Given the description of an element on the screen output the (x, y) to click on. 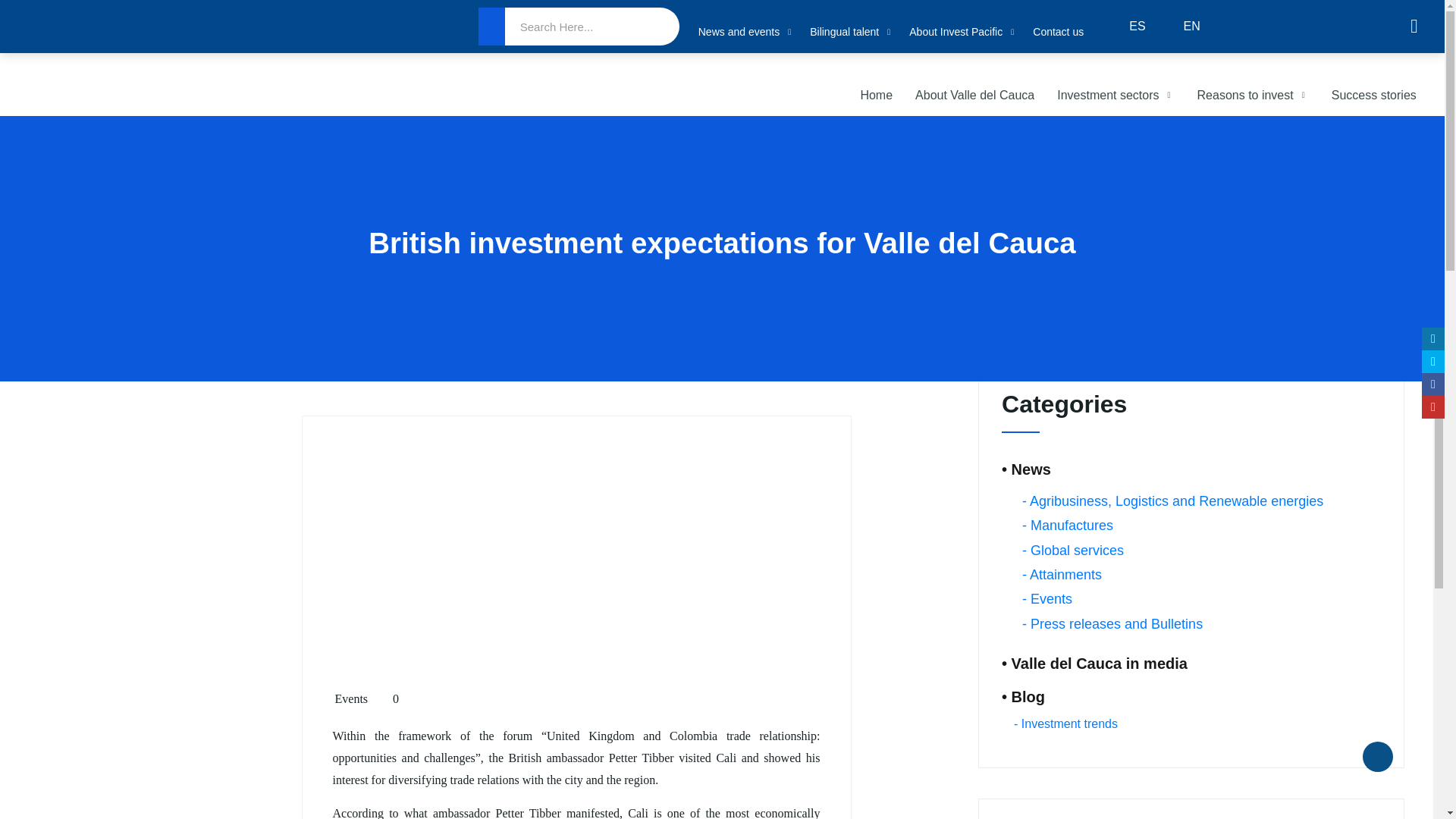
Contact us (1057, 32)
EN (1179, 26)
About Invest Pacific (963, 32)
About Valle del Cauca (974, 95)
ES (1125, 26)
Home (876, 95)
News and events (746, 32)
Investment sectors (1115, 95)
Bilingual talent (851, 32)
